Given the description of an element on the screen output the (x, y) to click on. 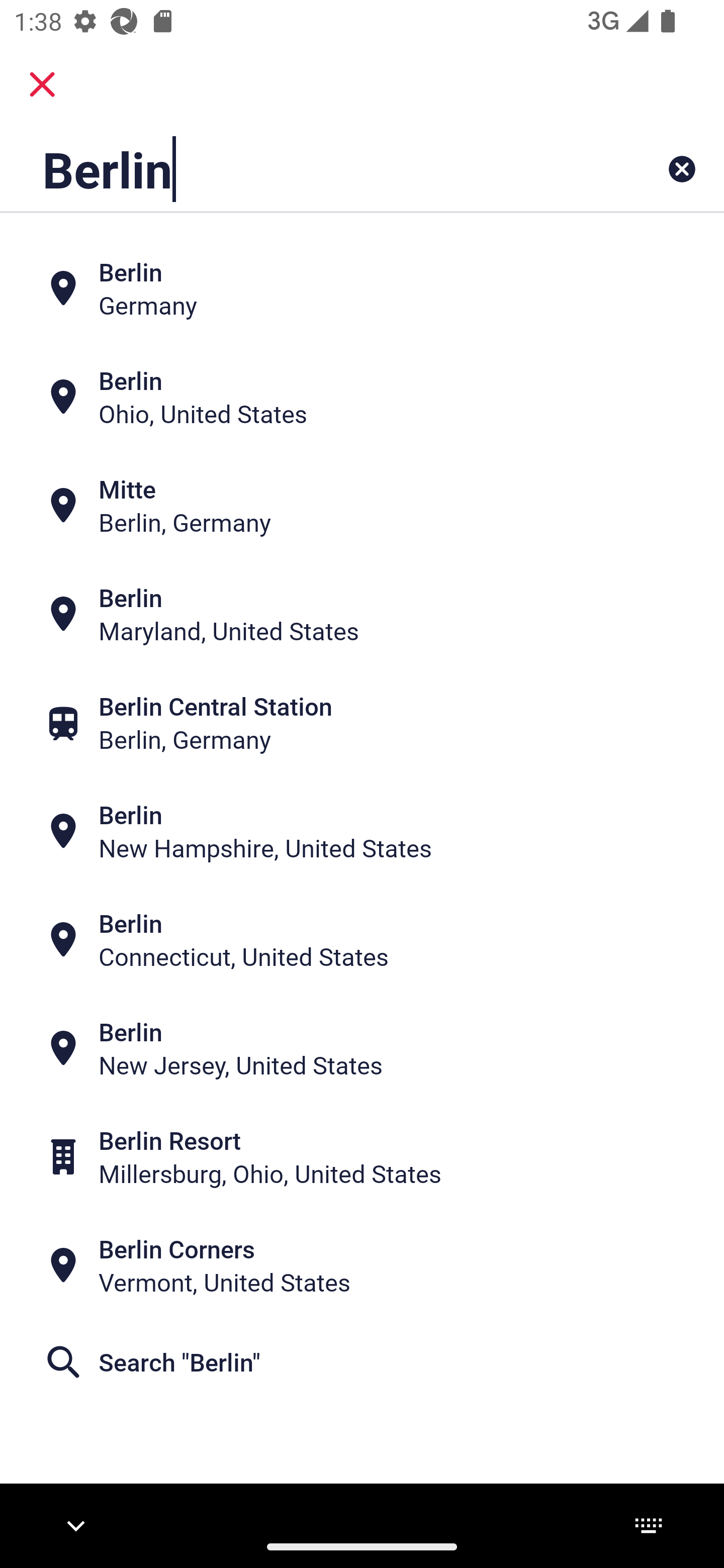
close. (42, 84)
Clear (681, 169)
Berlin (298, 169)
Berlin Germany (362, 288)
Berlin Ohio, United States (362, 397)
Mitte Berlin, Germany (362, 505)
Berlin Maryland, United States (362, 613)
Berlin Central Station Berlin, Germany (362, 722)
Berlin New Hampshire, United States (362, 831)
Berlin Connecticut, United States (362, 939)
Berlin New Jersey, United States (362, 1048)
Berlin Resort Millersburg, Ohio, United States (362, 1156)
Berlin Corners Vermont, United States (362, 1265)
Search "Berlin" (362, 1362)
